Given the description of an element on the screen output the (x, y) to click on. 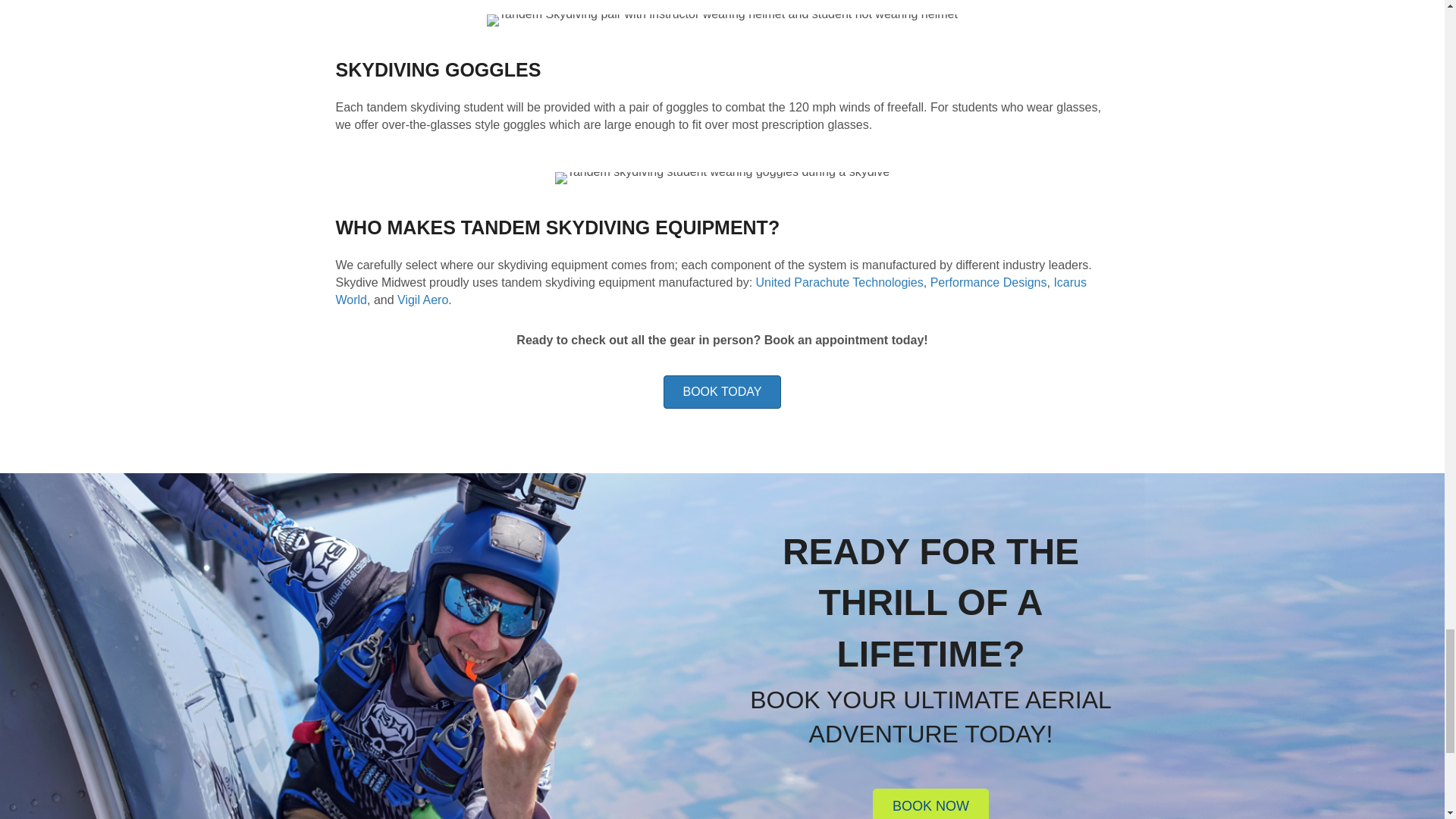
Vigil Aero (422, 299)
Icarus World (710, 291)
August23-03826 (722, 20)
Performance Designs (988, 282)
July23-09512 (721, 177)
United Parachute Technologies (839, 282)
BOOK NOW (930, 803)
BOOK TODAY (721, 391)
